Given the description of an element on the screen output the (x, y) to click on. 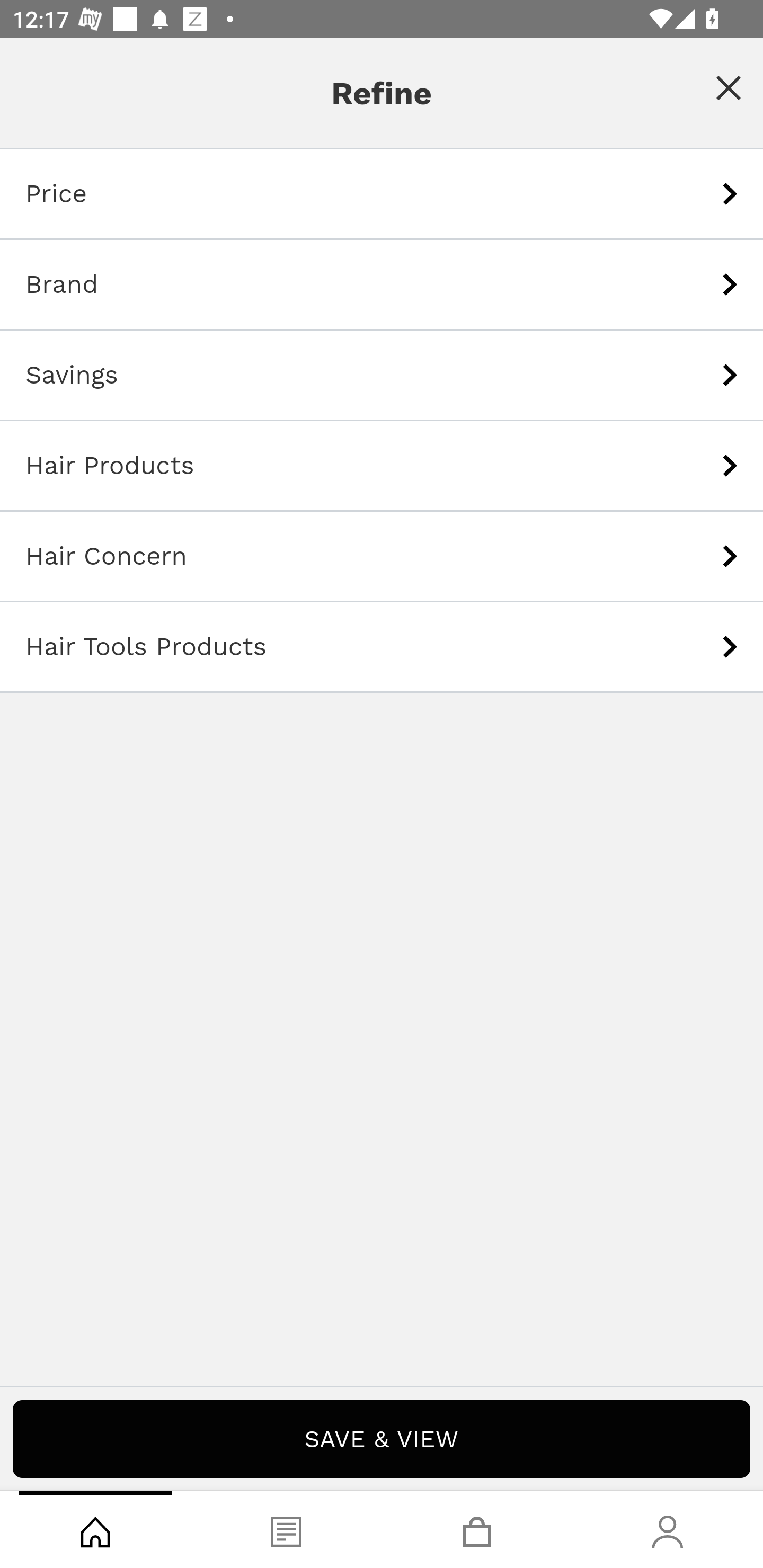
Lookfantastic USA (381, 75)
Read more (381, 564)
Shop, tab, 1 of 4 (95, 1529)
Blog, tab, 2 of 4 (285, 1529)
Basket, tab, 3 of 4 (476, 1529)
Account, tab, 4 of 4 (667, 1529)
